Given the description of an element on the screen output the (x, y) to click on. 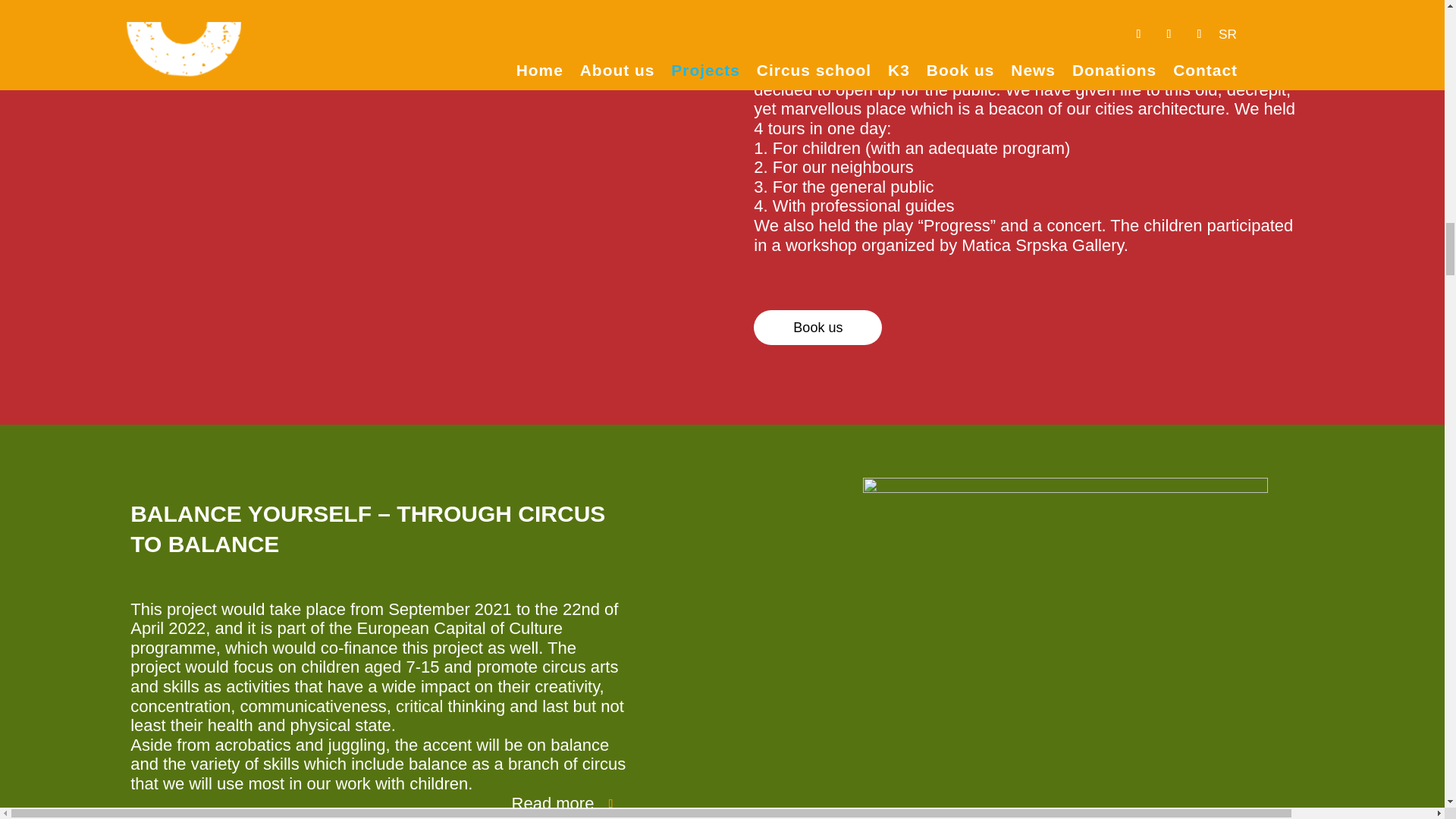
Book us (818, 326)
